Given the description of an element on the screen output the (x, y) to click on. 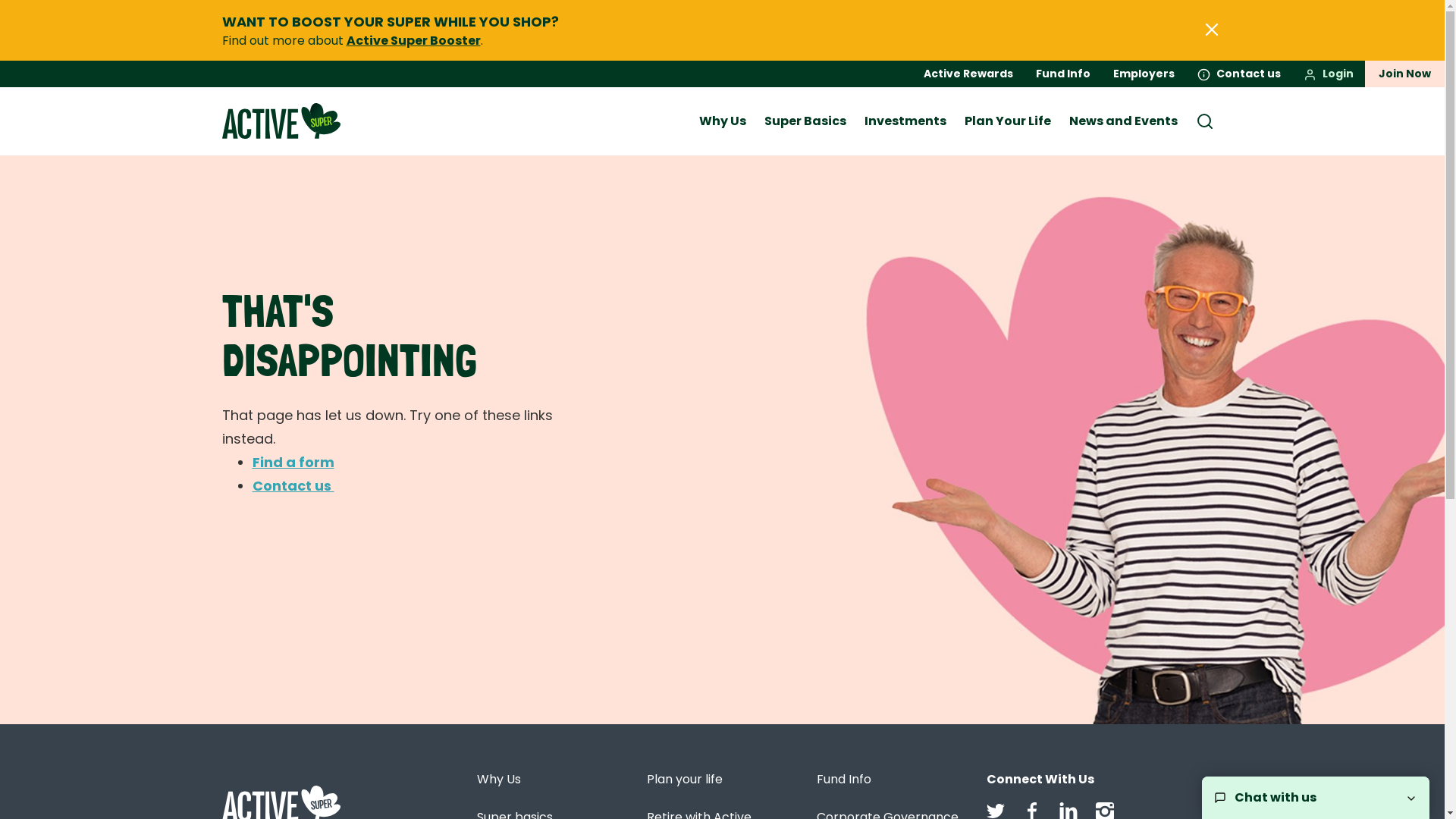
Fund Info Element type: text (1062, 73)
Fund Info Element type: text (842, 778)
Login Element type: text (1328, 73)
Why Us Element type: text (498, 778)
Join Now Element type: text (1404, 73)
Active Super Booster Element type: text (412, 40)
Contact us Element type: text (1239, 73)
Active Super Element type: text (280, 112)
Contact us Element type: text (292, 485)
Plan your life Element type: text (683, 778)
Employers Element type: text (1143, 73)
Investments Element type: text (905, 121)
Active Rewards Element type: text (968, 73)
Find a form Element type: text (292, 461)
News and Events Element type: text (1123, 121)
Plan Your Life Element type: text (1007, 121)
Why Us Element type: text (722, 121)
Super Basics Element type: text (805, 121)
